Given the description of an element on the screen output the (x, y) to click on. 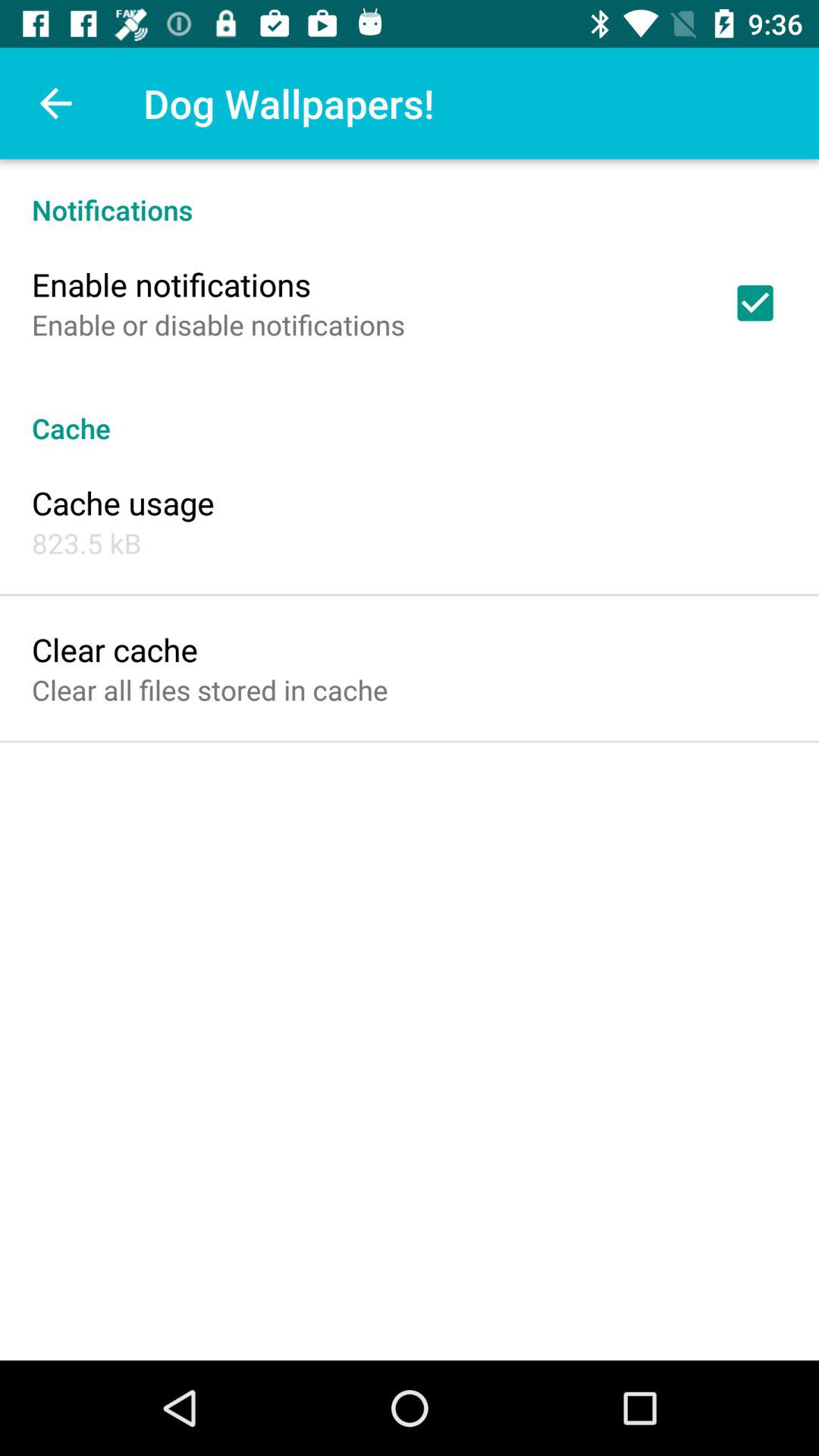
select the item to the left of dog wallpapers! (55, 103)
